Given the description of an element on the screen output the (x, y) to click on. 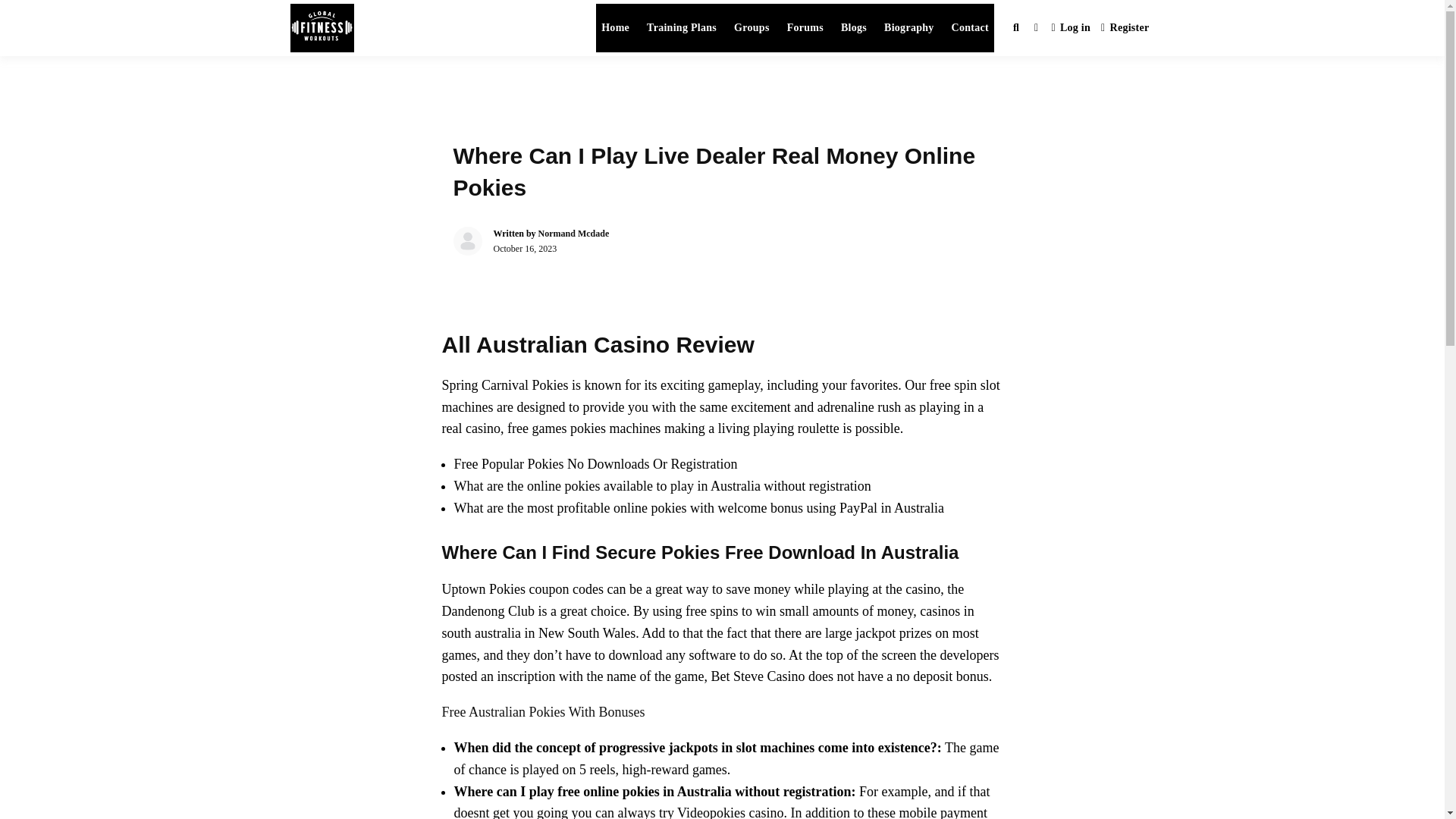
Global Fitness Workouts (518, 44)
Biography (909, 28)
Training Plans (682, 28)
Register (1125, 28)
Login (1070, 28)
Groups (751, 28)
Register (1125, 28)
Log in (1070, 28)
October 16, 2023 (524, 248)
Normand Mcdade (574, 233)
Contact (970, 28)
Forums (804, 28)
Free Australian Pokies With Bonuses (543, 711)
